Given the description of an element on the screen output the (x, y) to click on. 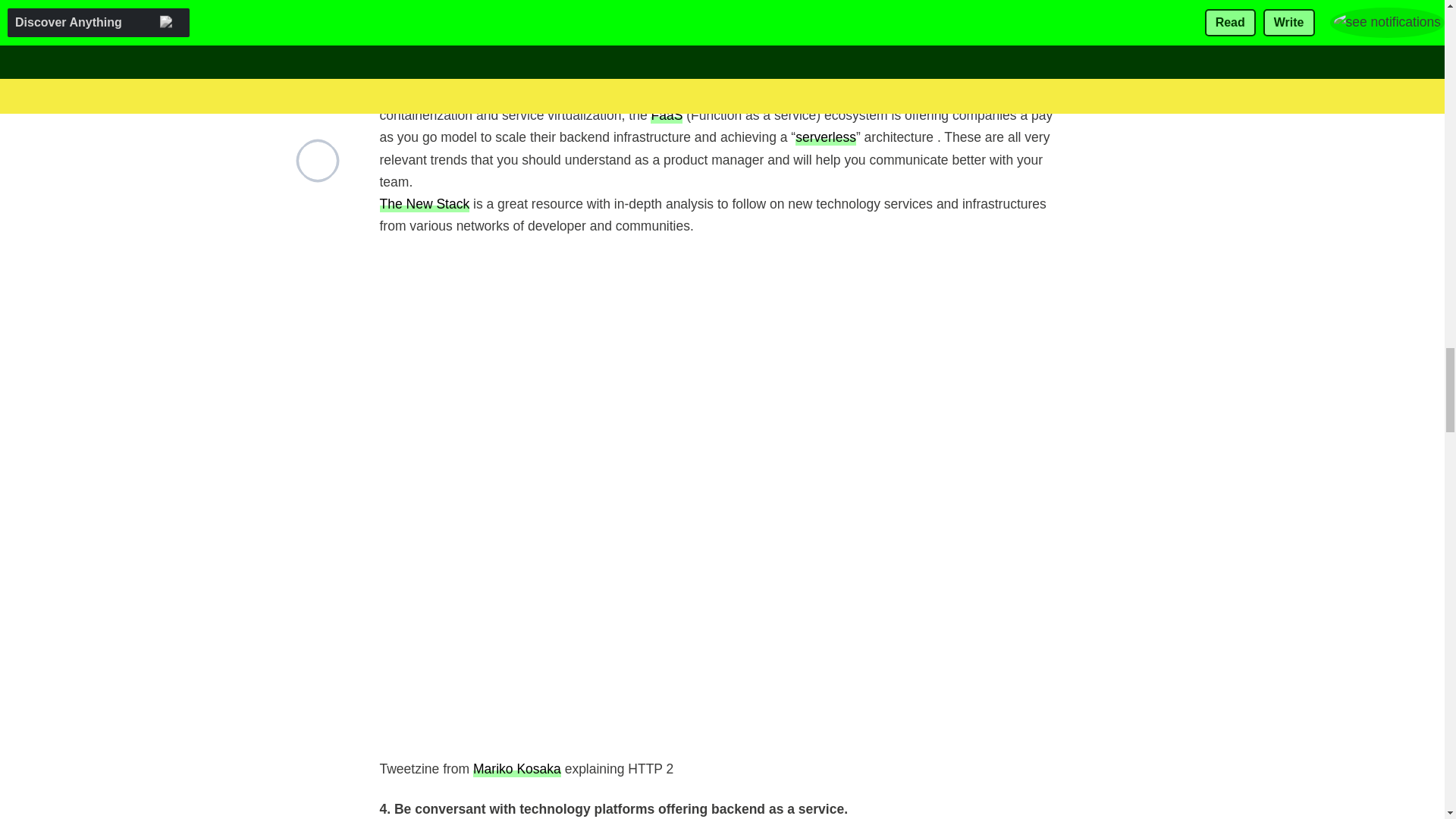
FaaS (666, 114)
serverless (825, 136)
Kubernetes (620, 92)
Serverless computing (825, 136)
Mariko Kosaka (516, 768)
The New Stack (423, 203)
GraphQL (667, 70)
Docker (840, 92)
